Given the description of an element on the screen output the (x, y) to click on. 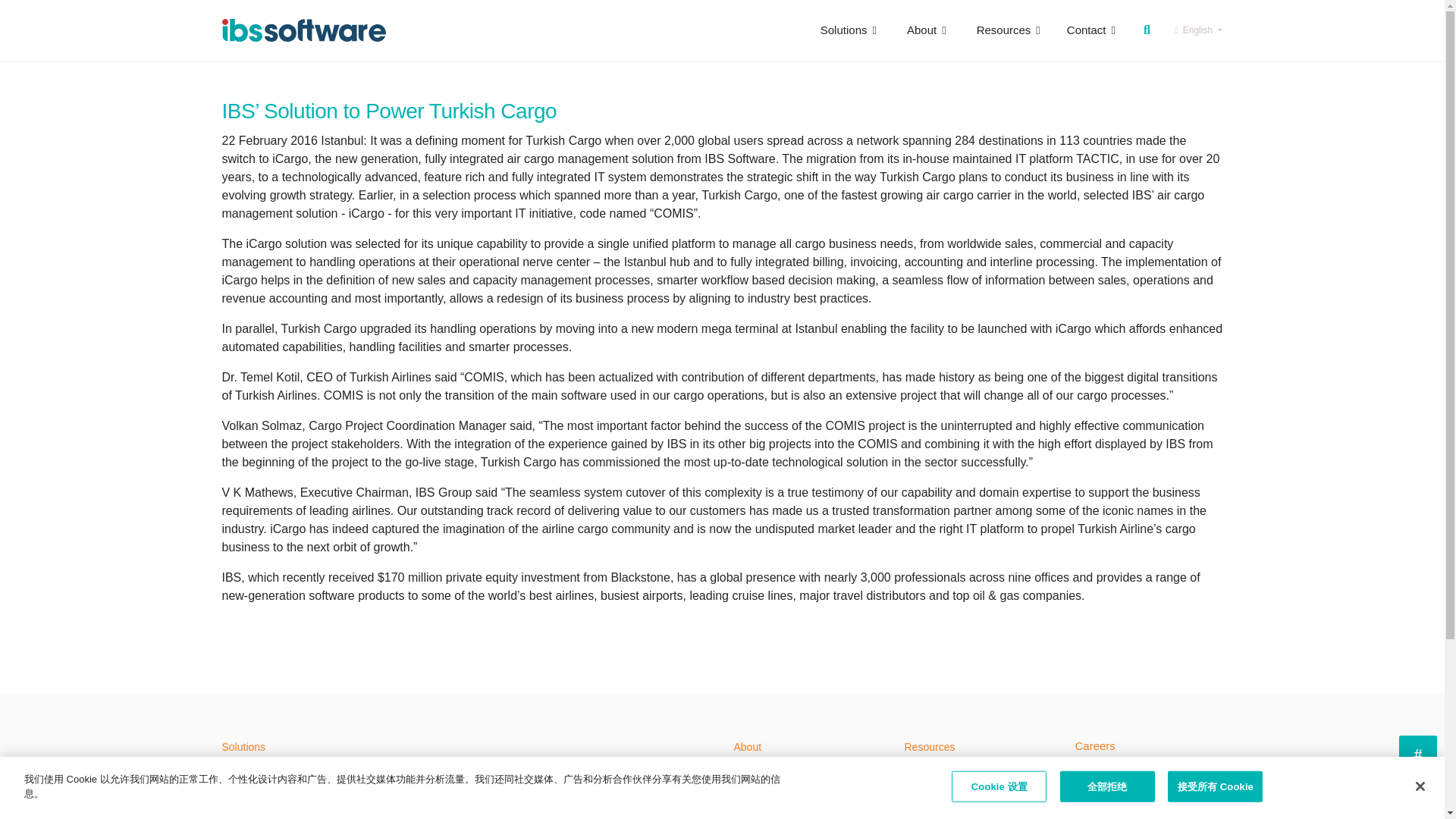
Resources (1007, 30)
Solutions (848, 30)
Airline Retailing (295, 774)
About (925, 30)
Contact (1085, 30)
  English (1198, 30)
